Given the description of an element on the screen output the (x, y) to click on. 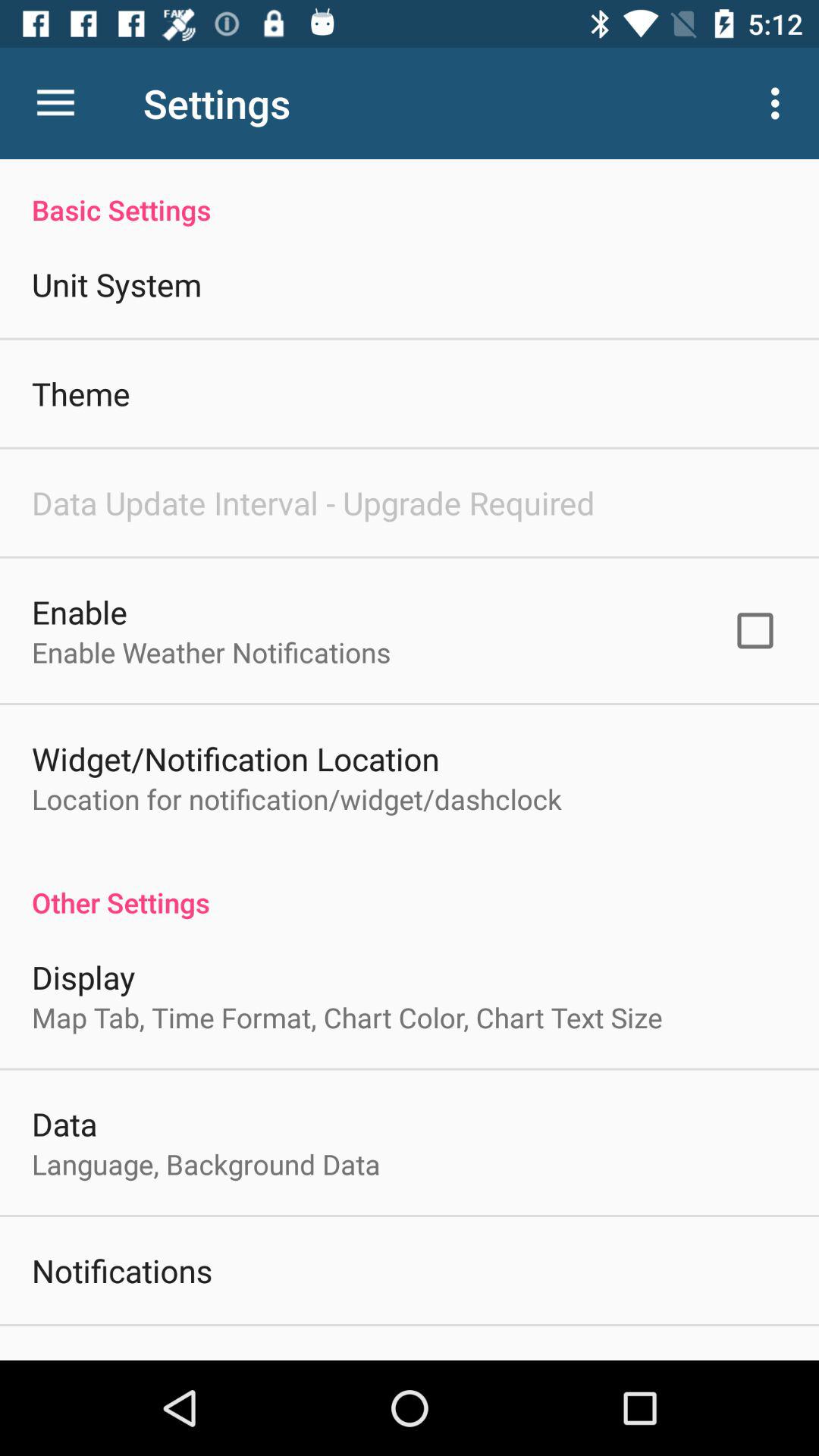
turn off item next to enable weather notifications (755, 630)
